Given the description of an element on the screen output the (x, y) to click on. 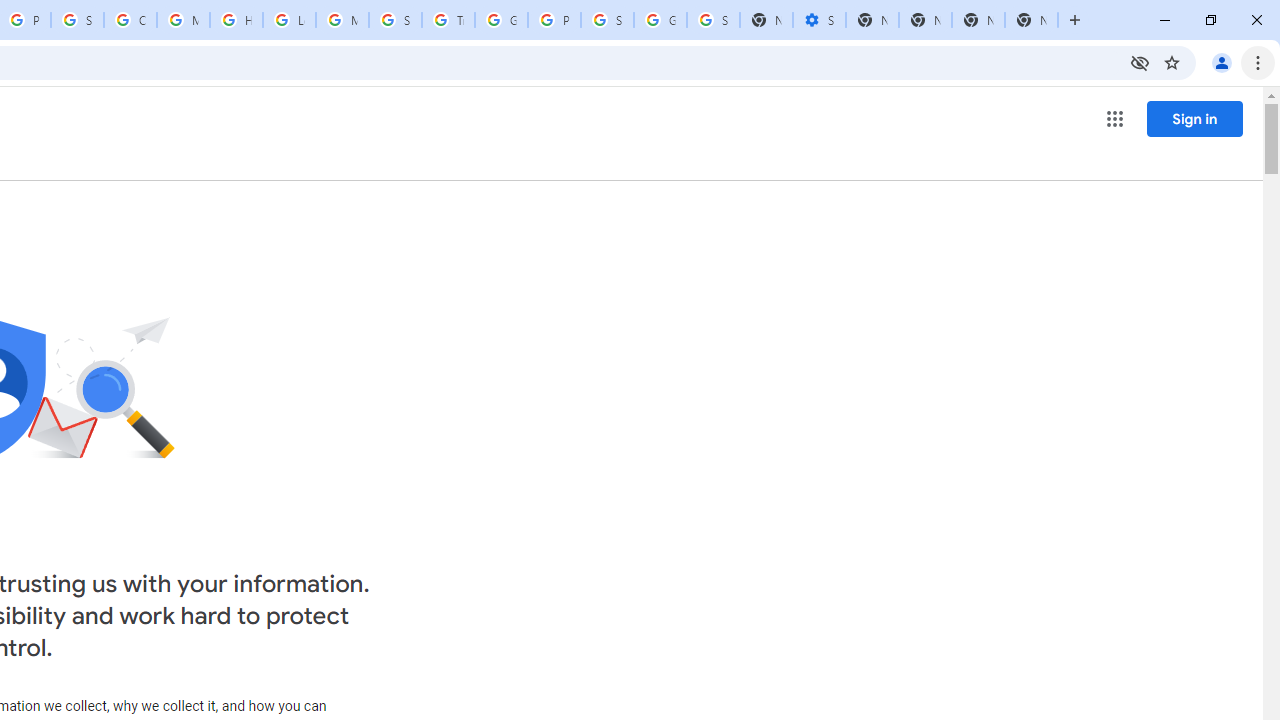
Sign in (1194, 118)
Third-party cookies blocked (1139, 62)
Sign in - Google Accounts (607, 20)
Search our Doodle Library Collection - Google Doodles (395, 20)
Google Ads - Sign in (501, 20)
Trusted Information and Content - Google Safety Center (448, 20)
Google Cybersecurity Innovations - Google Safety Center (660, 20)
